Given the description of an element on the screen output the (x, y) to click on. 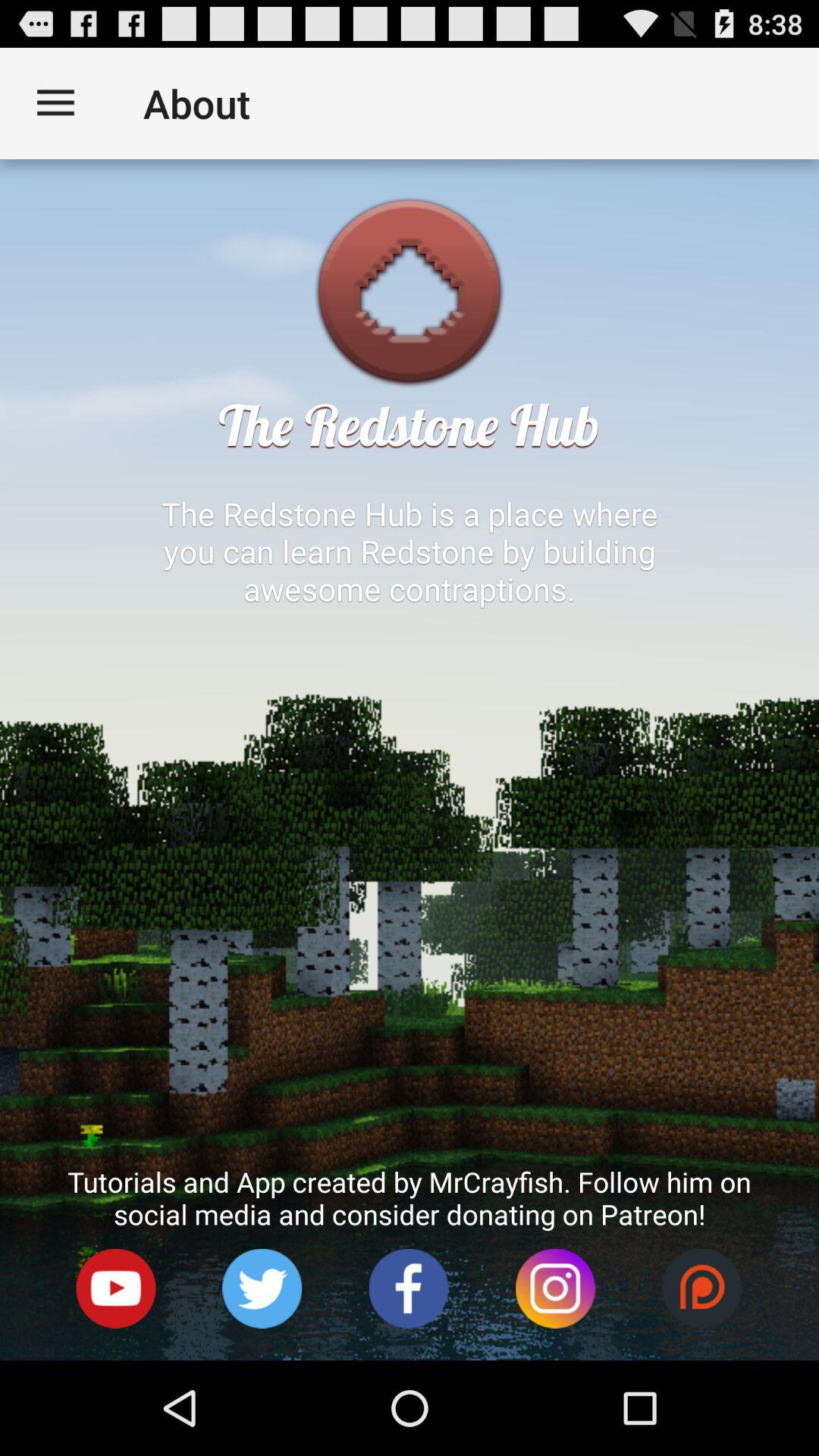
click the item below tutorials and app (116, 1288)
